Given the description of an element on the screen output the (x, y) to click on. 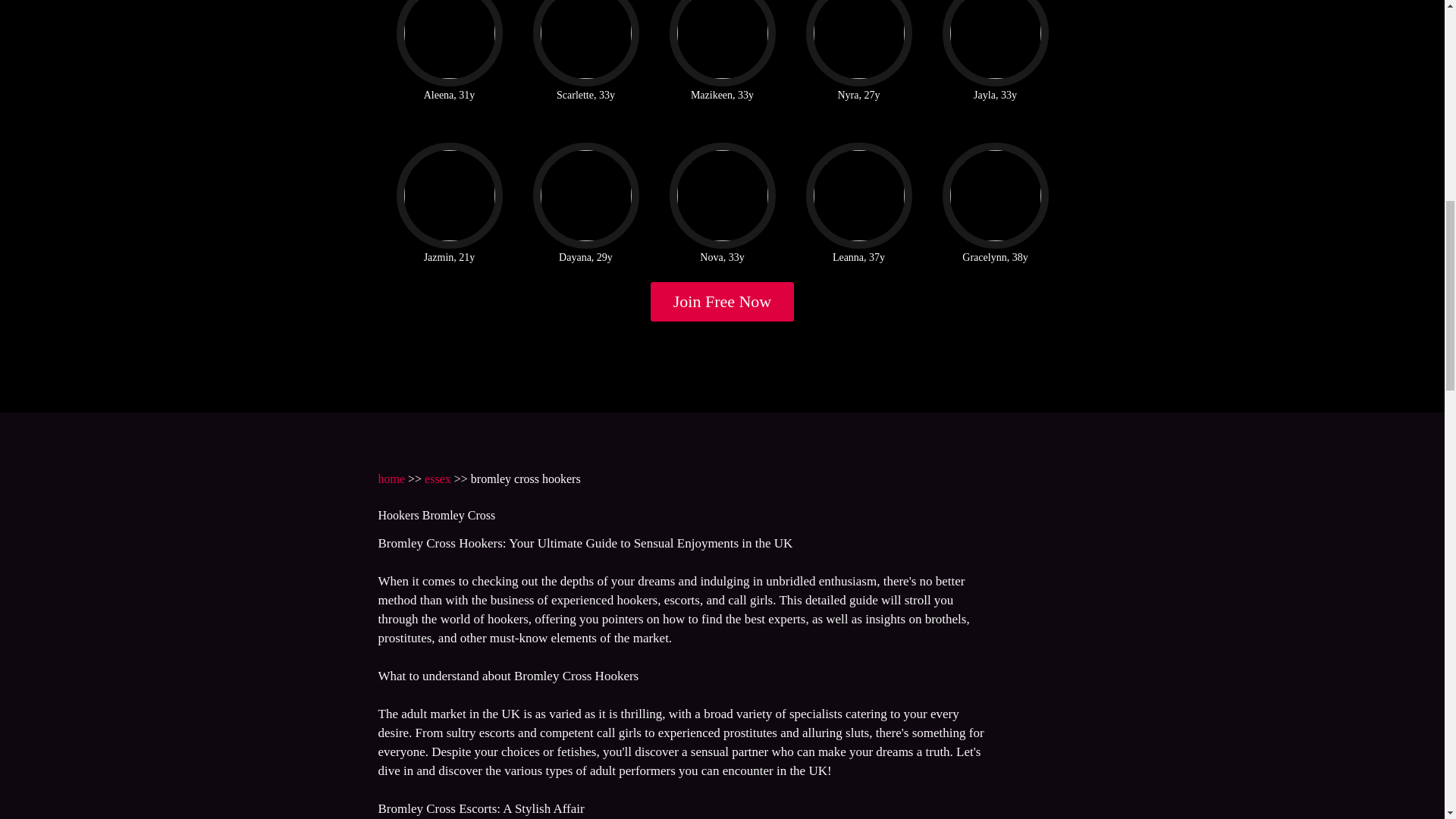
essex (438, 478)
home (390, 478)
Join (722, 301)
Join Free Now (722, 301)
